Given the description of an element on the screen output the (x, y) to click on. 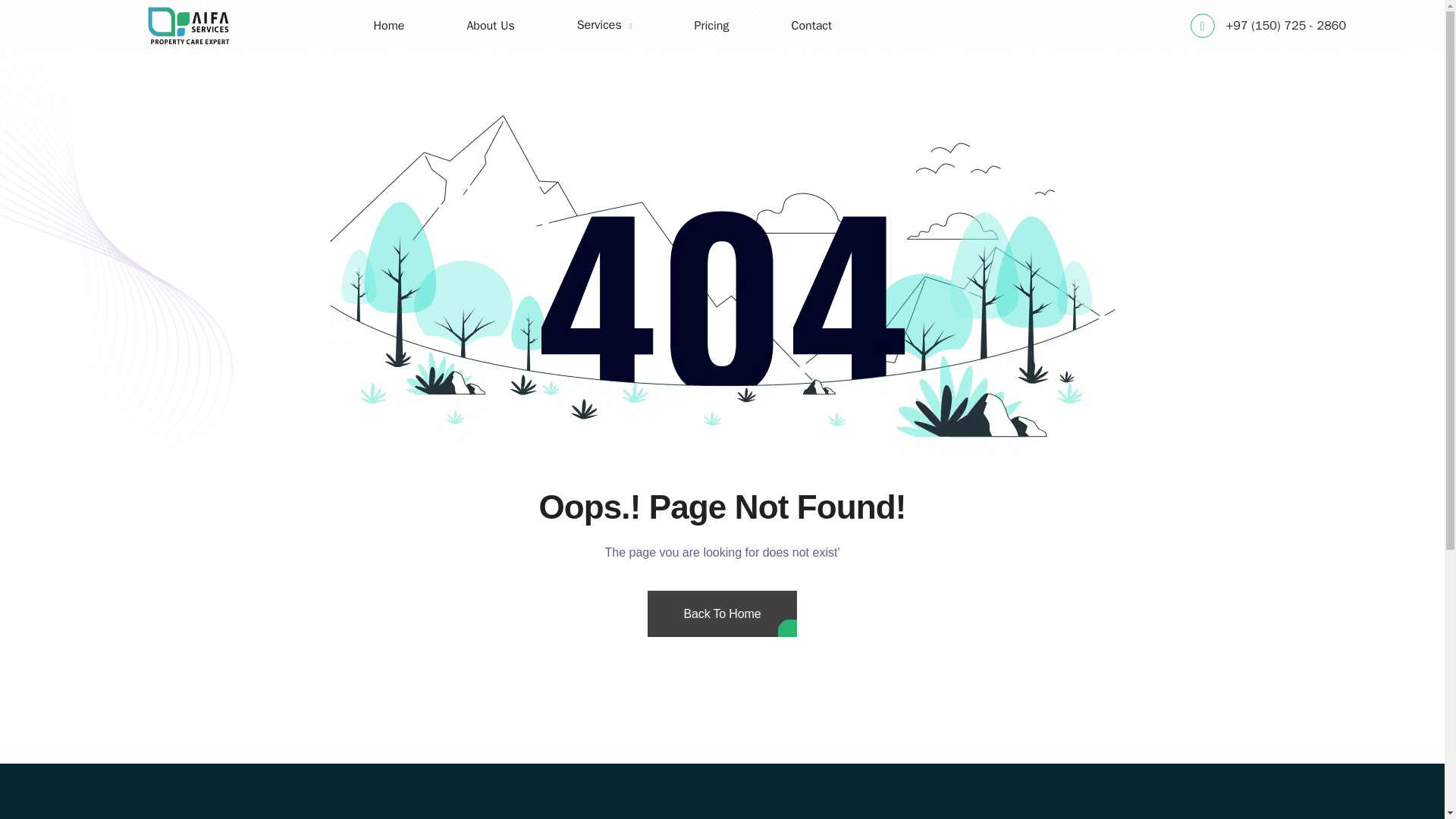
Back To Home (722, 632)
